Given the description of an element on the screen output the (x, y) to click on. 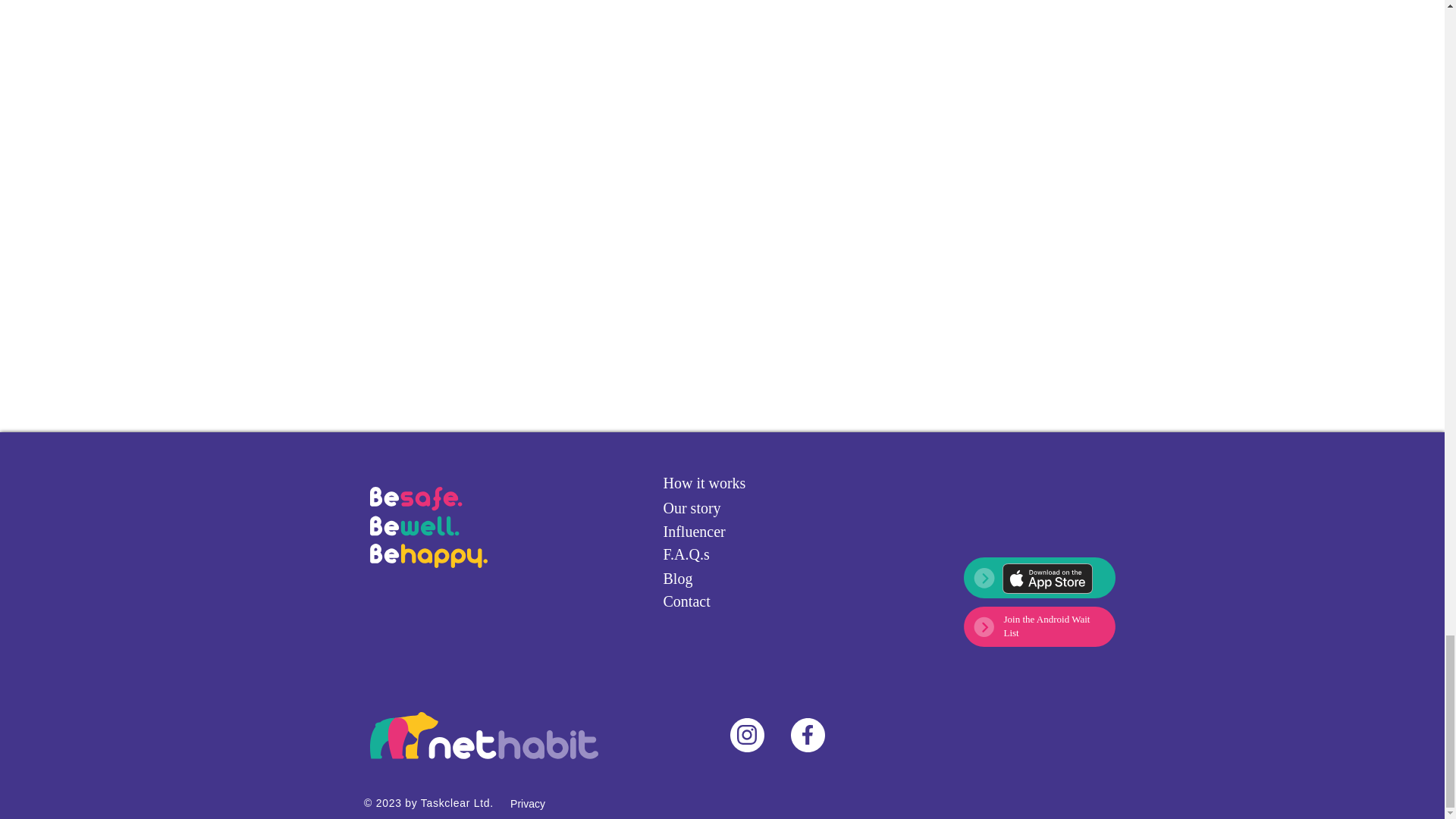
Blog (716, 578)
Our story (716, 508)
Contact (716, 601)
F.A.Q.s (716, 553)
Influencer (716, 531)
How it works (716, 482)
